Given the description of an element on the screen output the (x, y) to click on. 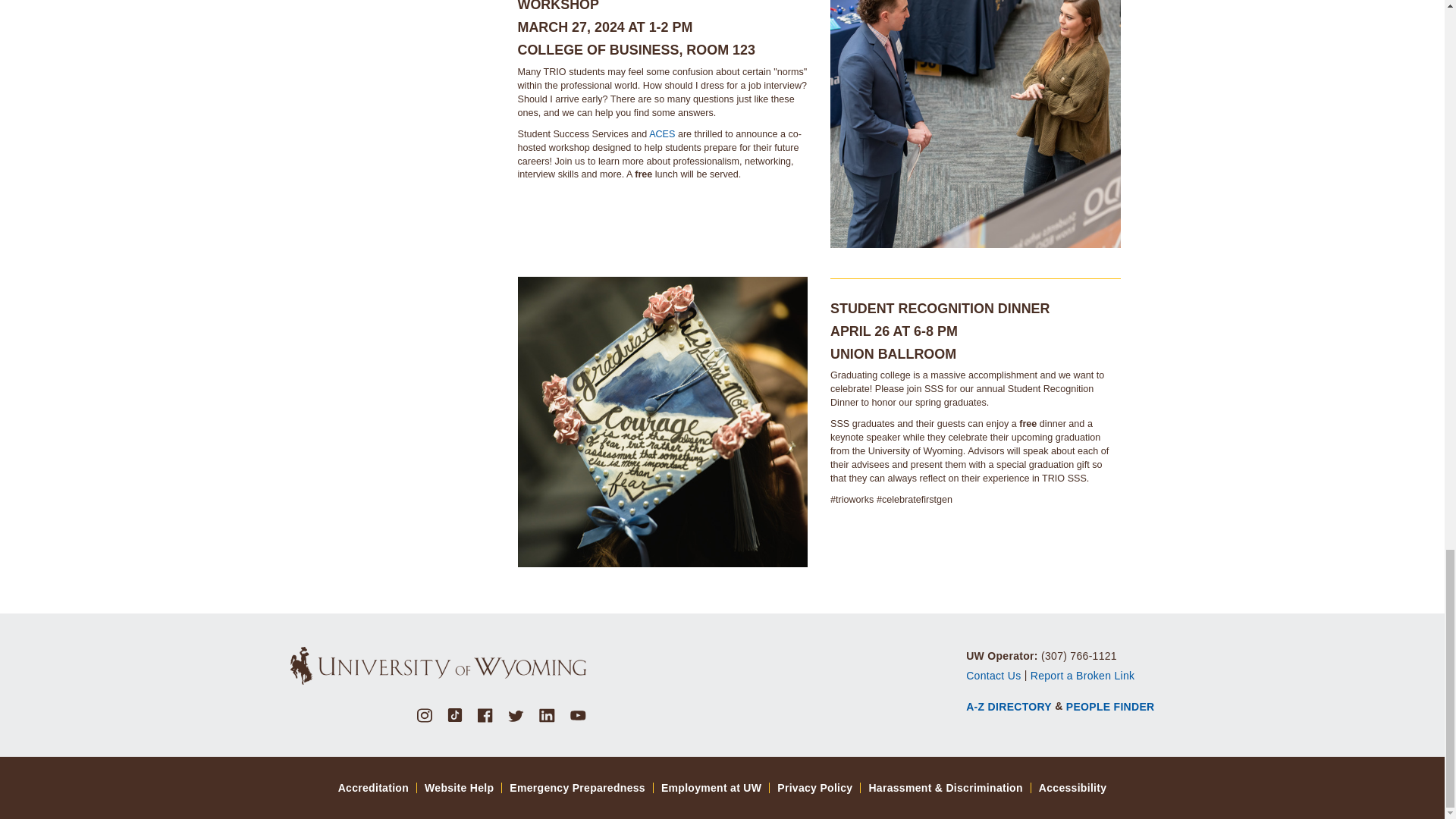
End of Semester Brunch (662, 421)
First Generation Day (975, 124)
